Given the description of an element on the screen output the (x, y) to click on. 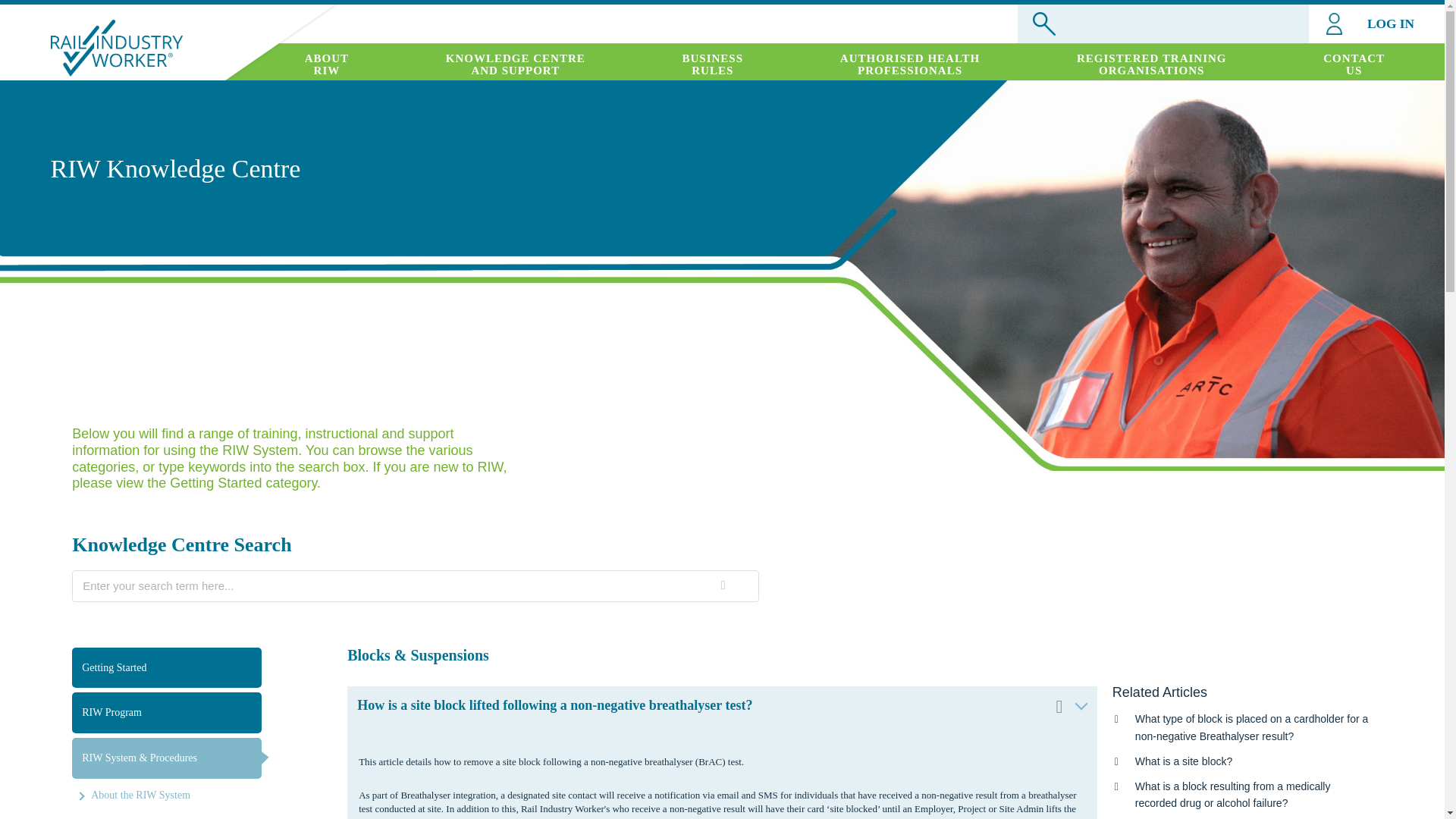
LOG IN (326, 64)
Help widget launcher (909, 64)
